Given the description of an element on the screen output the (x, y) to click on. 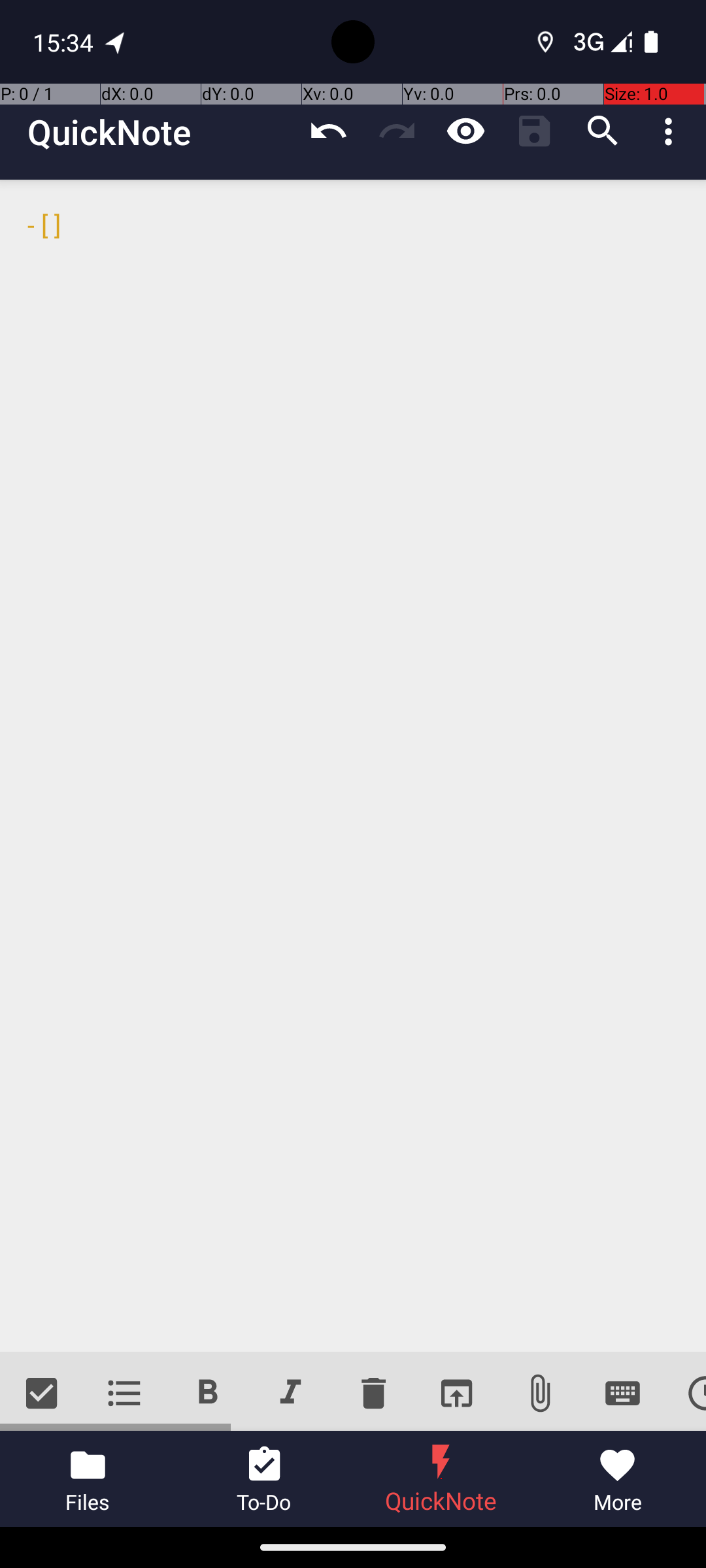
- [ ]  Element type: android.widget.EditText (353, 765)
